Given the description of an element on the screen output the (x, y) to click on. 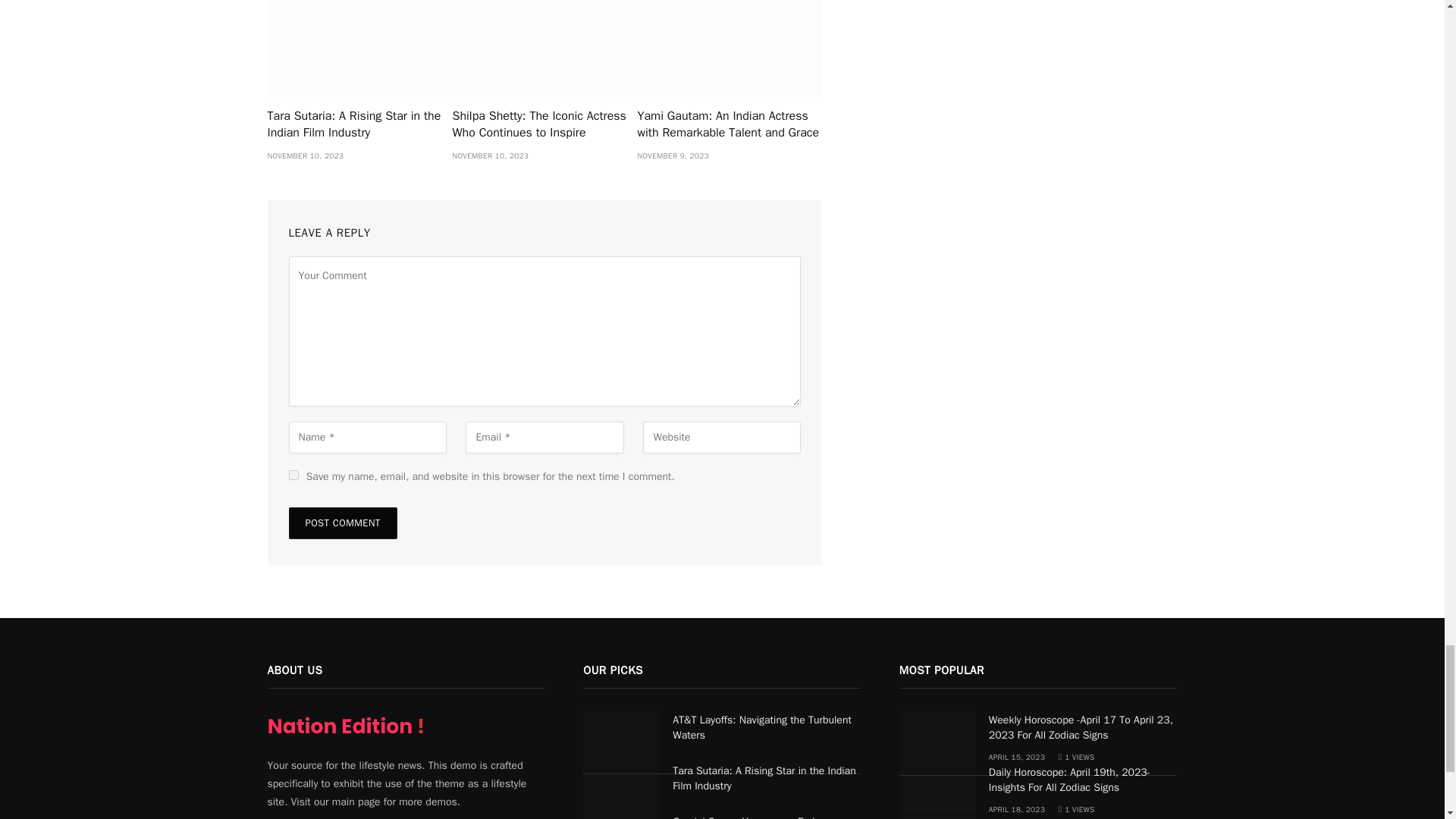
Post Comment (342, 522)
yes (293, 474)
